Given the description of an element on the screen output the (x, y) to click on. 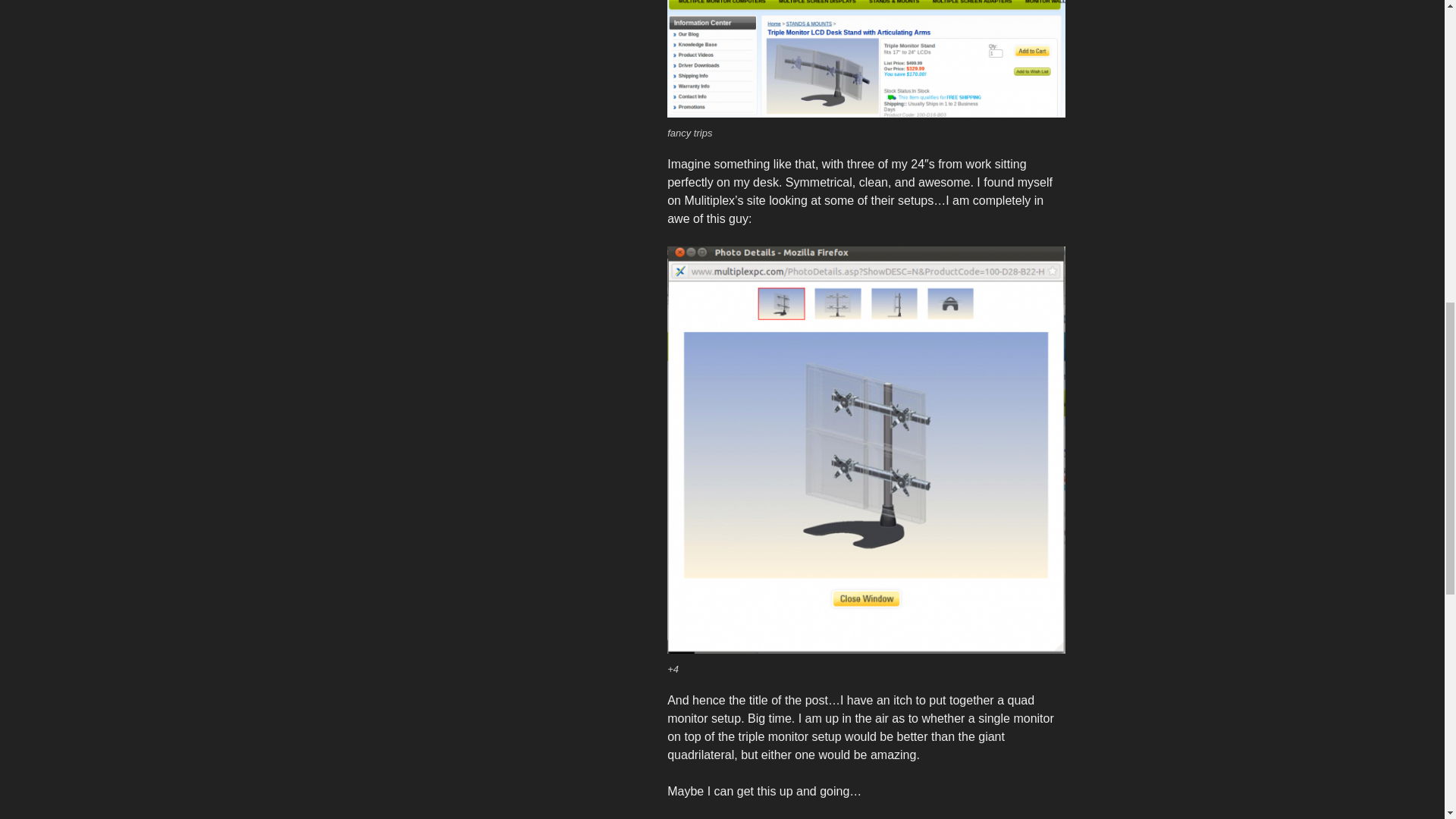
mulitplex (865, 58)
